Given the description of an element on the screen output the (x, y) to click on. 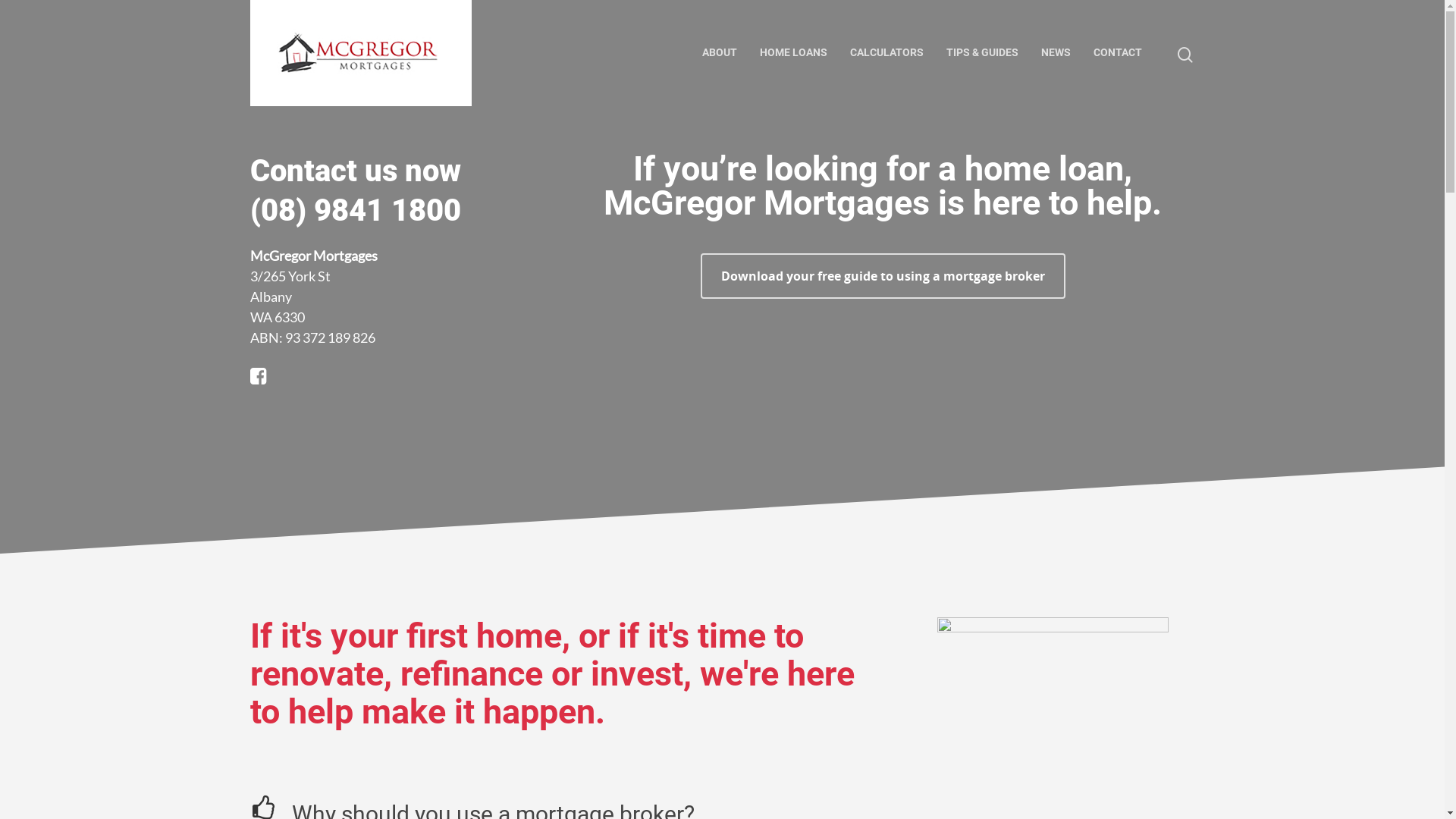
(08) 9841 1800 Element type: text (355, 210)
ABOUT Element type: text (719, 52)
TIPS & GUIDES Element type: text (982, 52)
CONTACT Element type: text (1117, 52)
HOME LOANS Element type: text (793, 52)
Download your free guide to using a mortgage broker Element type: text (882, 275)
NEWS Element type: text (1055, 52)
CALCULATORS Element type: text (886, 52)
